Given the description of an element on the screen output the (x, y) to click on. 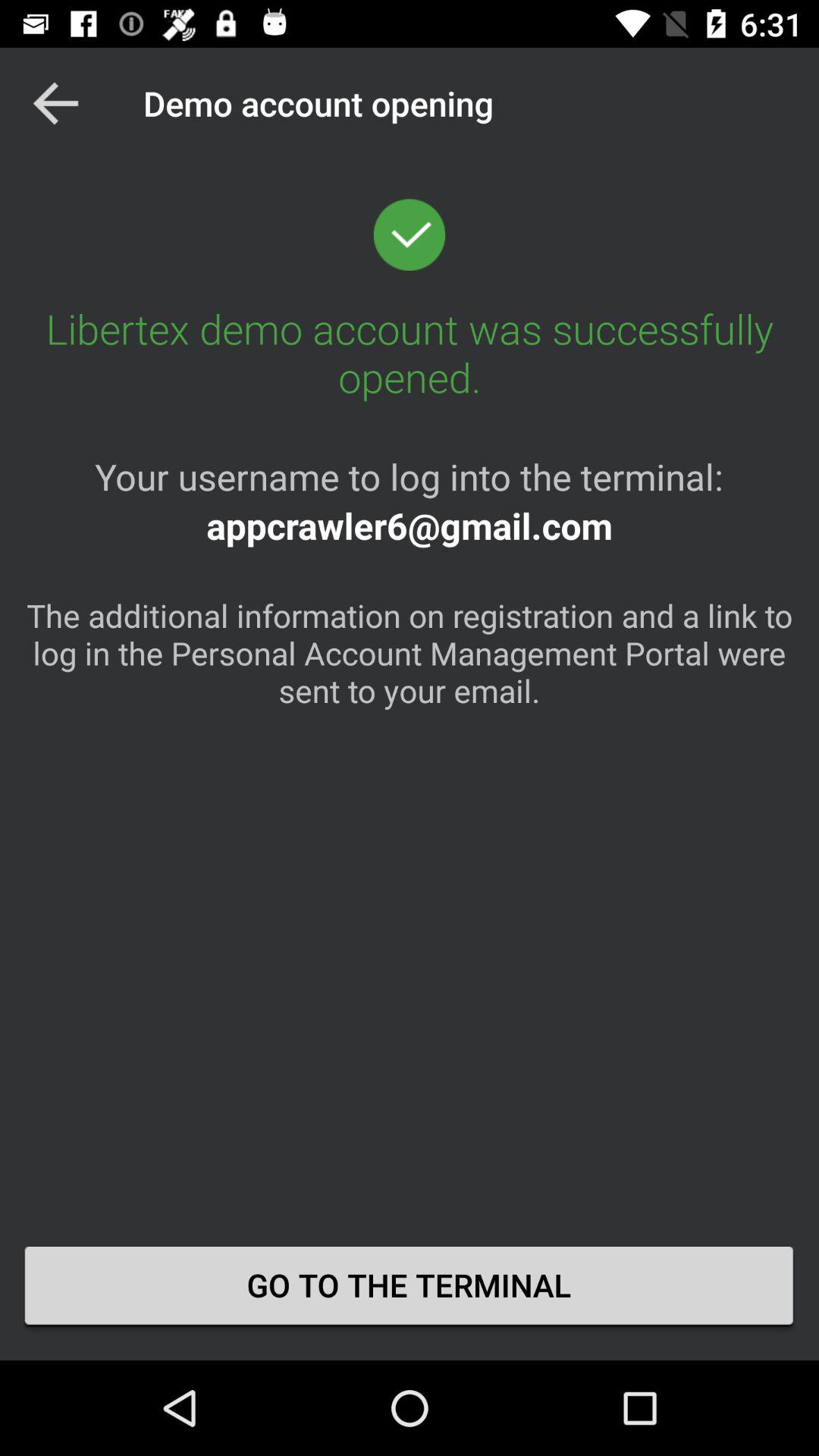
open item at the top left corner (55, 103)
